Given the description of an element on the screen output the (x, y) to click on. 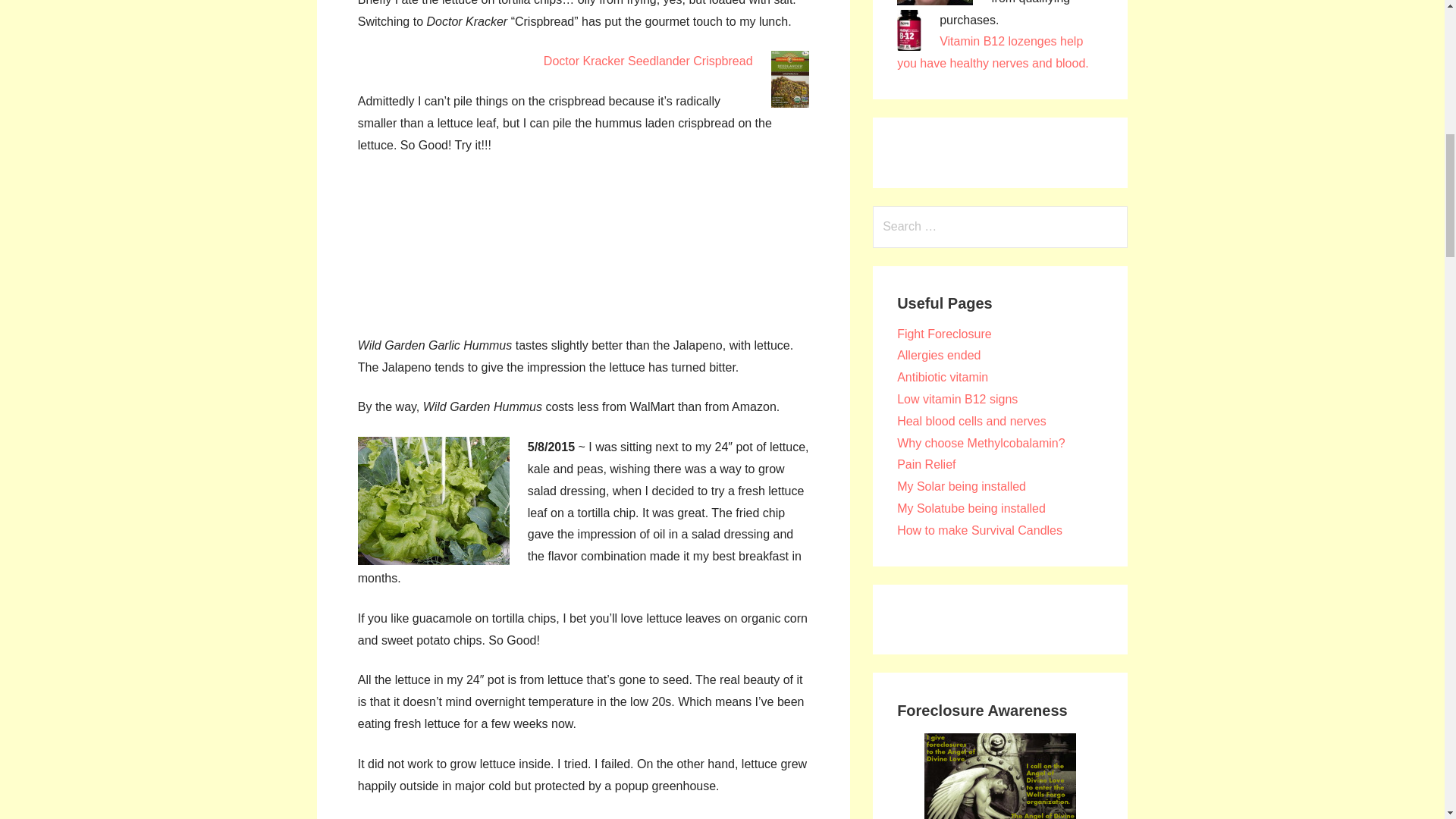
Pain and Pain Relief (925, 463)
Vitamin C (942, 377)
B12 Malabsorption (971, 420)
Low Vitamin B12 Signs Leading to Bad Health (956, 399)
Allergies (937, 354)
